Given the description of an element on the screen output the (x, y) to click on. 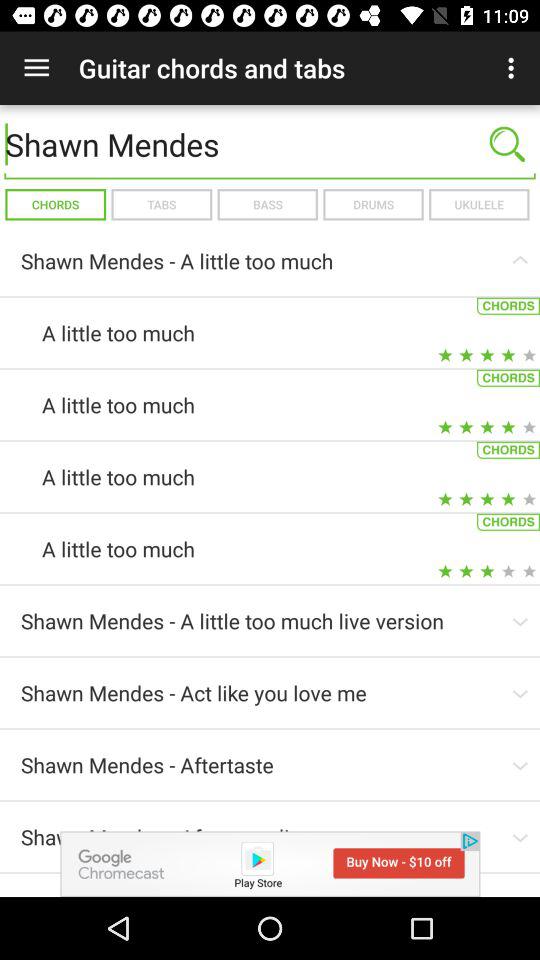
click item above the ukulele item (507, 144)
